Given the description of an element on the screen output the (x, y) to click on. 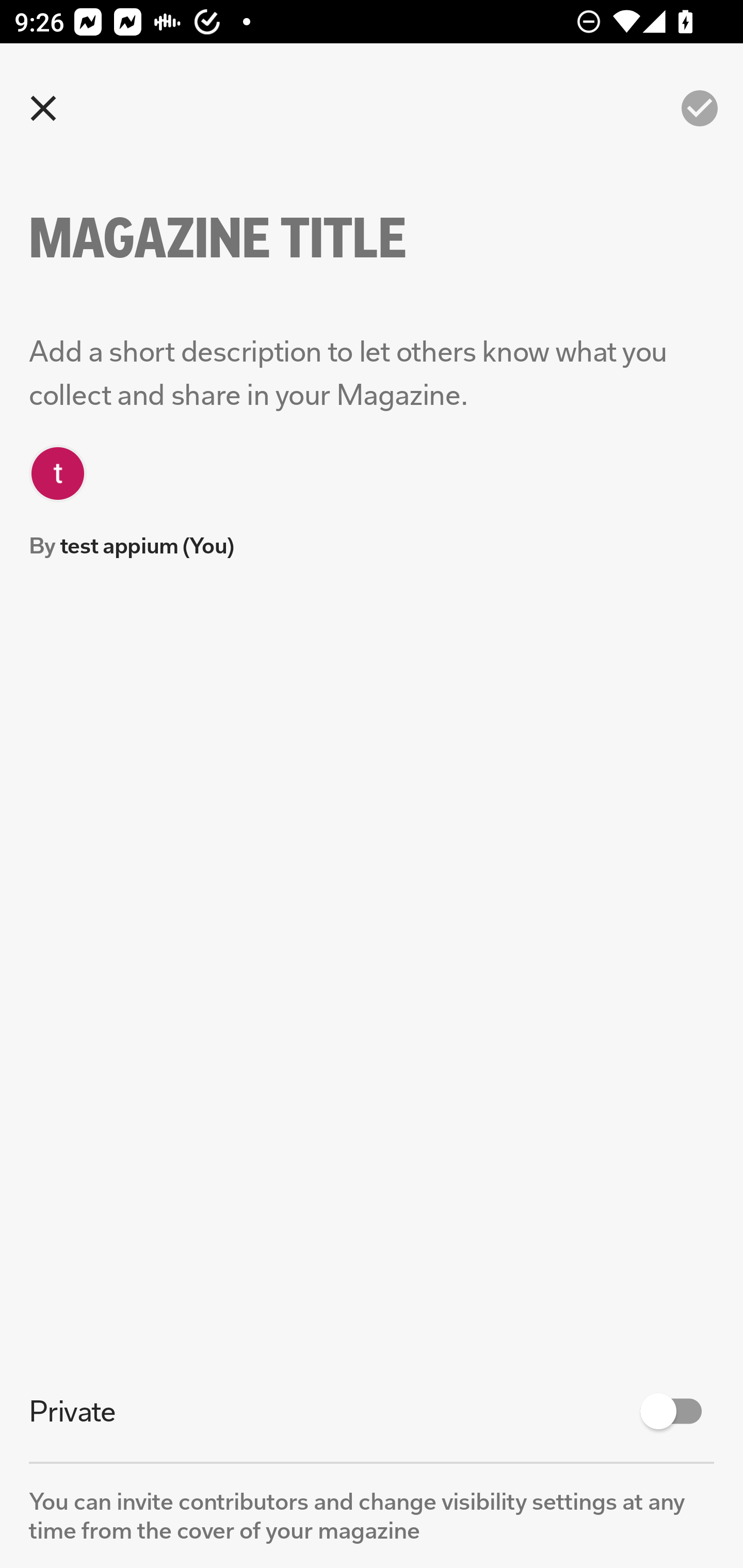
MAGAZINE TITLE (252, 238)
Private (371, 1411)
